Given the description of an element on the screen output the (x, y) to click on. 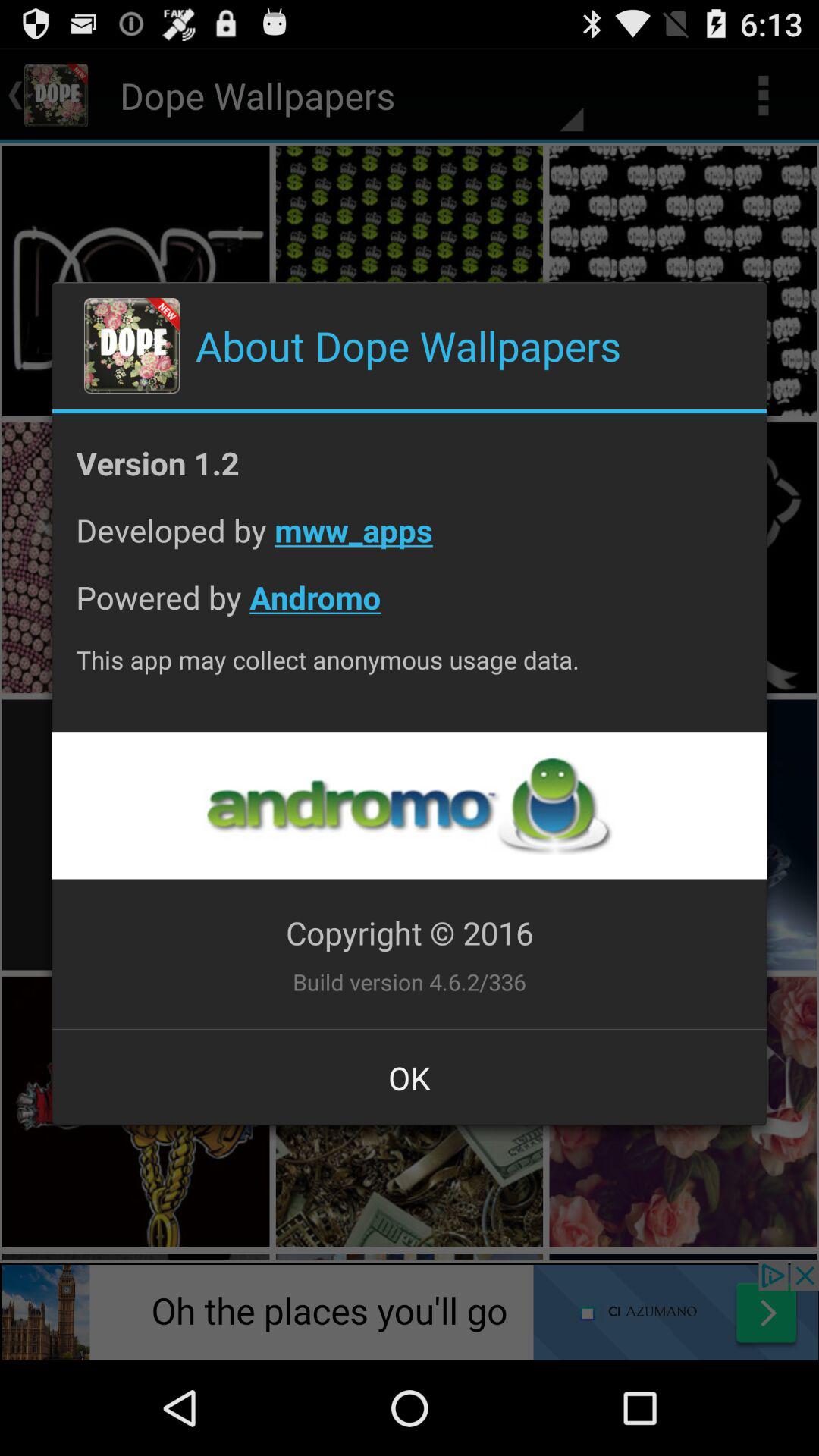
advertisement link (408, 805)
